Given the description of an element on the screen output the (x, y) to click on. 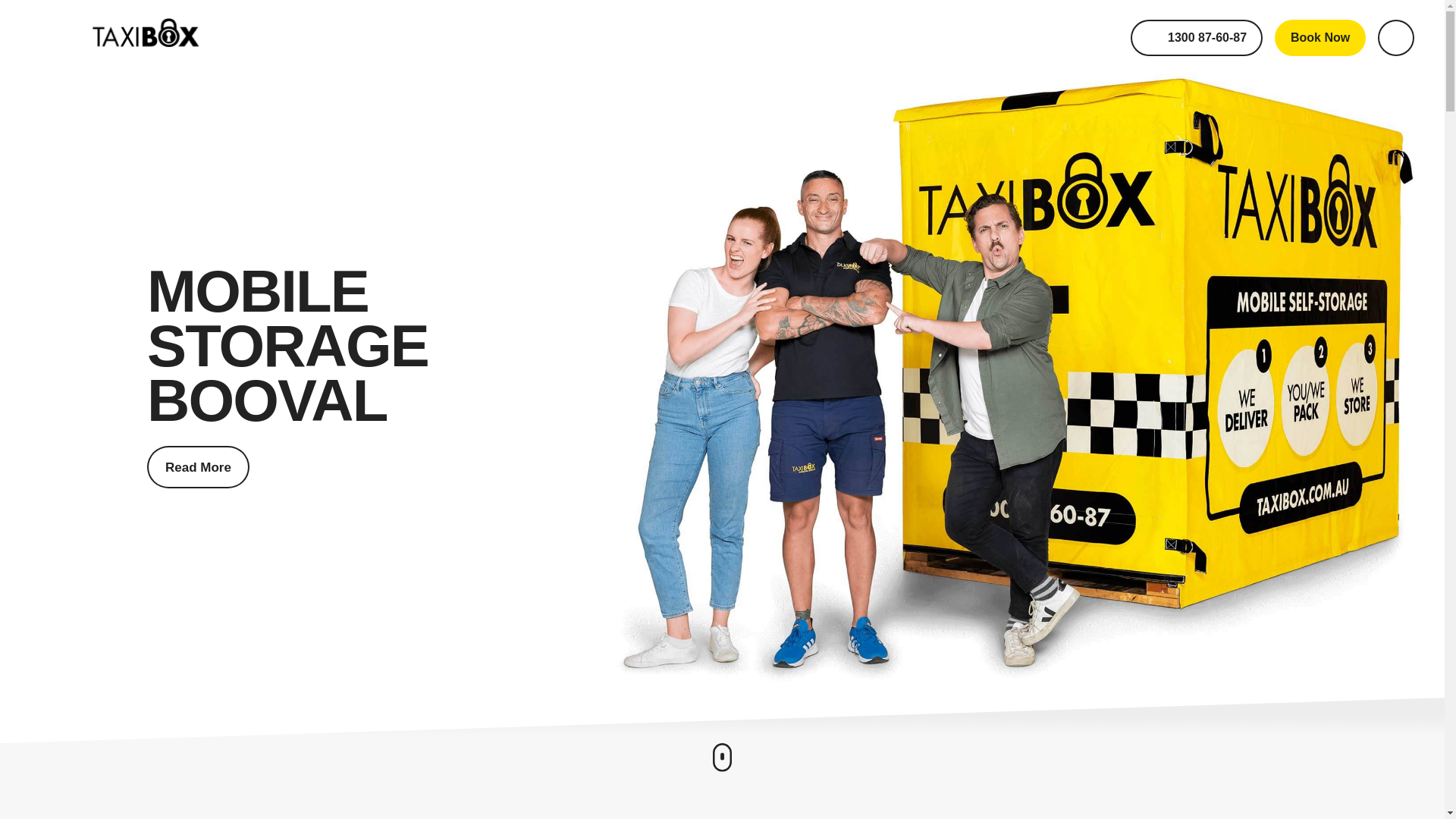
1300 87-60-87 (1196, 37)
Book Now (1320, 37)
Read More (197, 466)
